Given the description of an element on the screen output the (x, y) to click on. 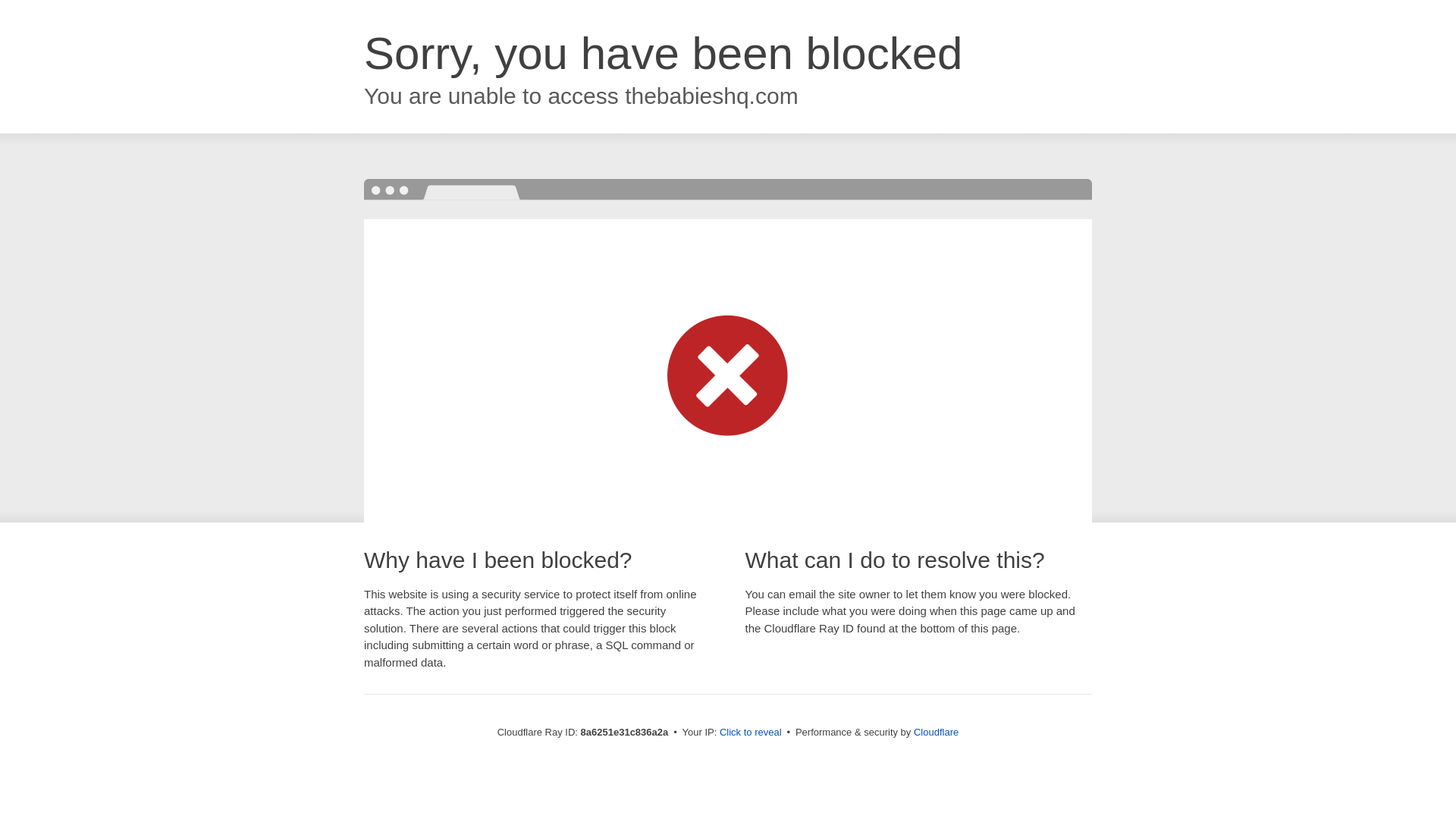
Click to reveal (750, 732)
Cloudflare (936, 731)
